Given the description of an element on the screen output the (x, y) to click on. 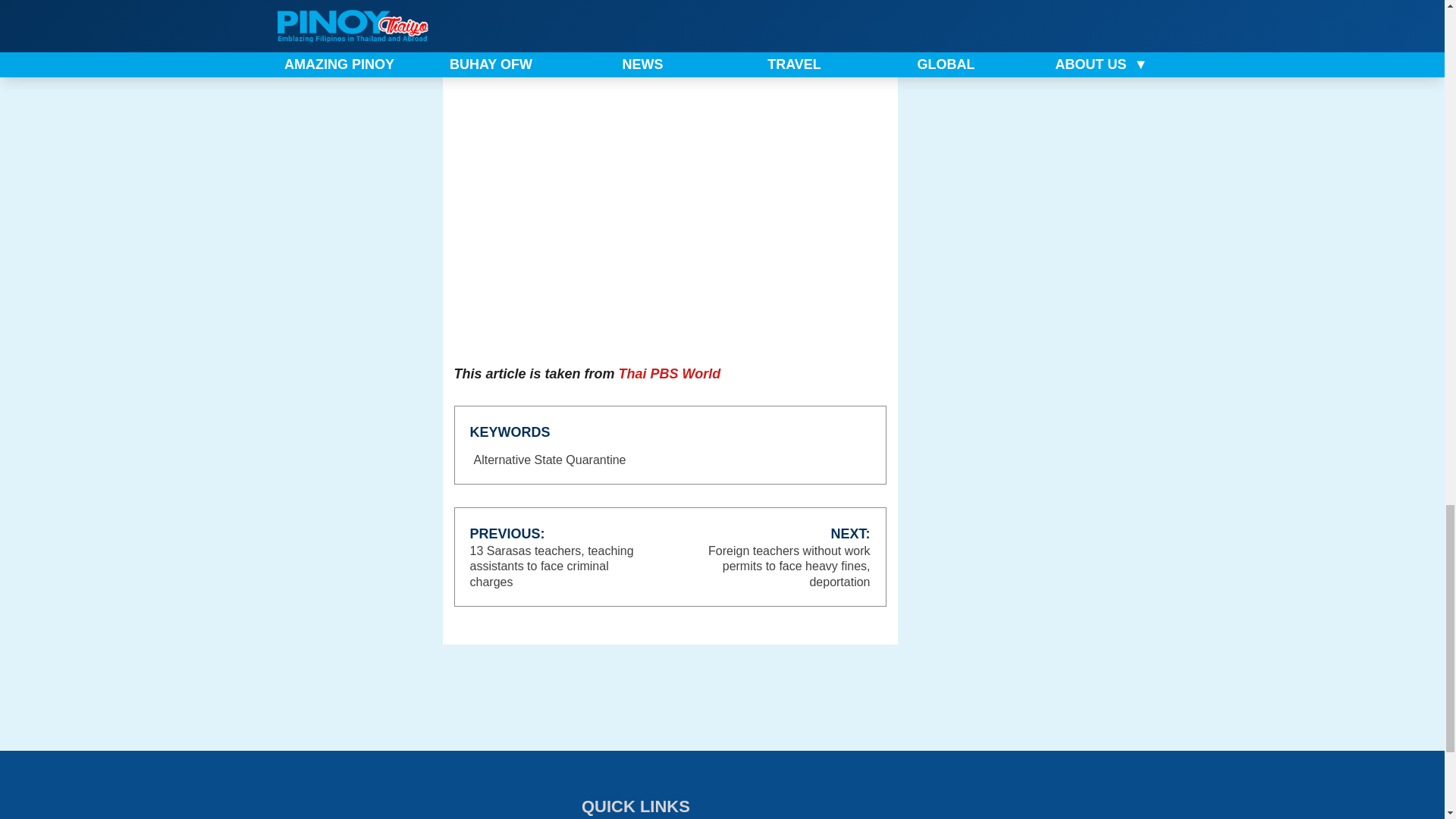
Thai PBS World (669, 373)
Alternative State Quarantine (550, 460)
